Given the description of an element on the screen output the (x, y) to click on. 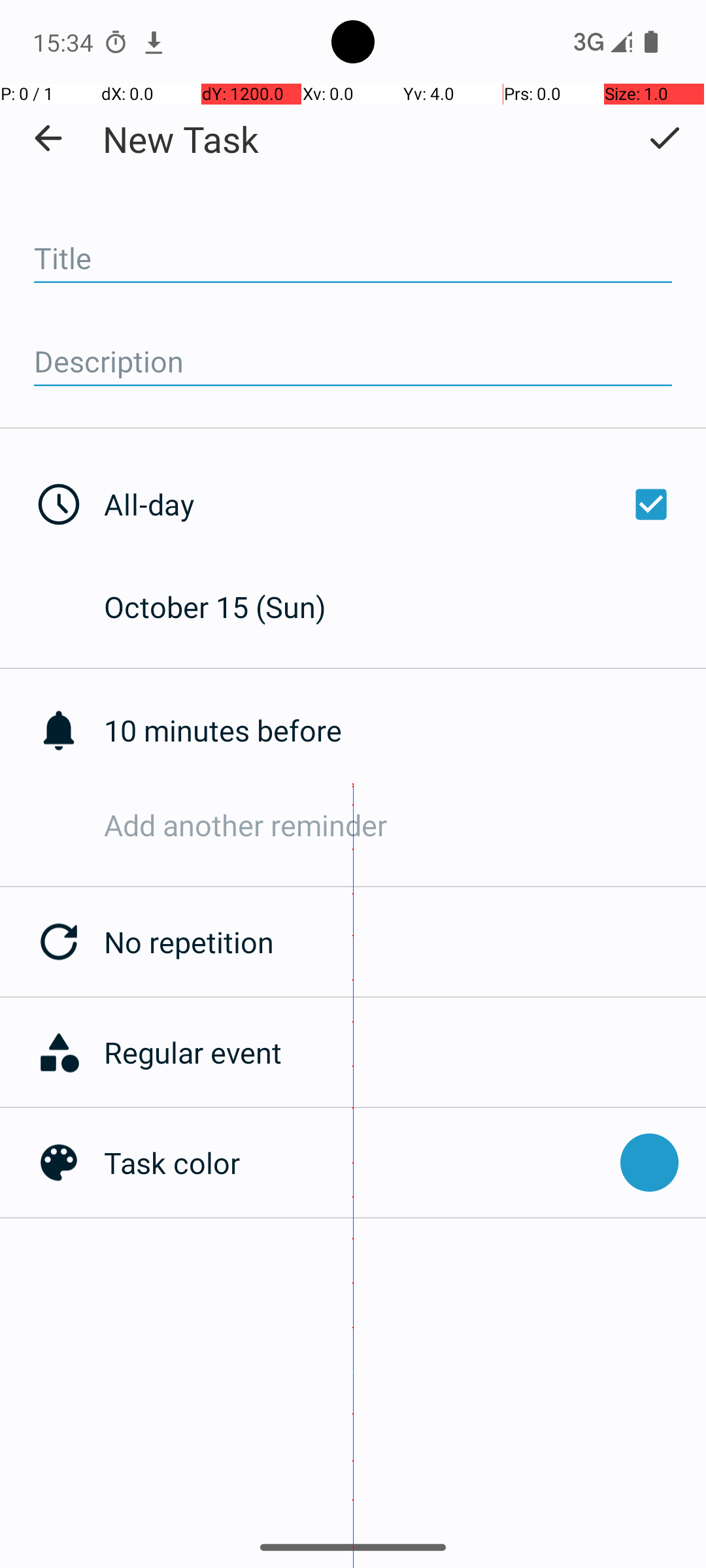
Task color Element type: android.widget.TextView (354, 1162)
